Given the description of an element on the screen output the (x, y) to click on. 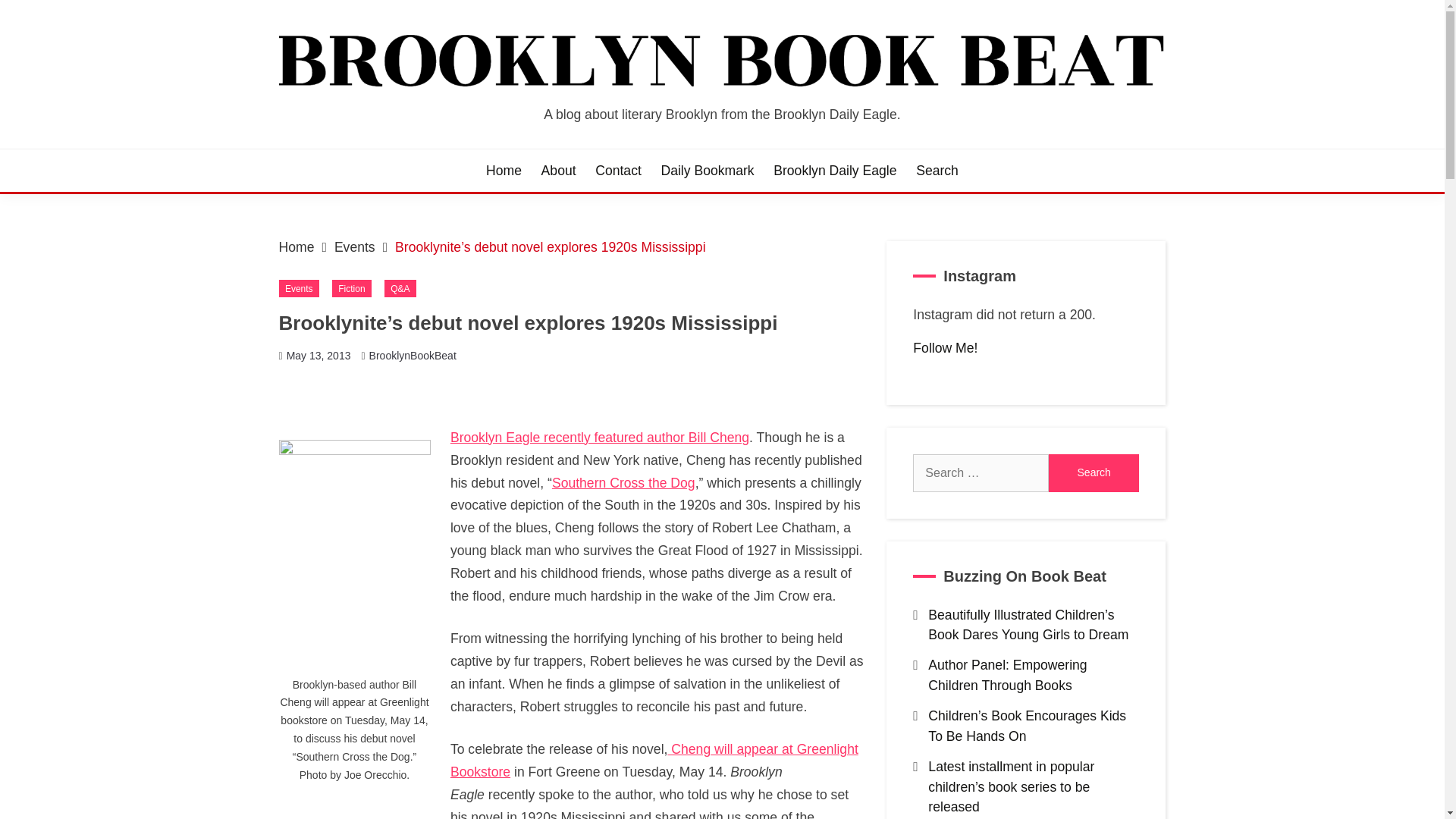
Search (936, 170)
Brooklyn Eagle recently featured author Bill Cheng (599, 437)
Events (298, 288)
Search (1093, 473)
Fiction (351, 288)
Follow Me! (944, 347)
About (558, 170)
Southern Cross the Dog (623, 482)
Daily Bookmark (707, 170)
Home (296, 246)
